Given the description of an element on the screen output the (x, y) to click on. 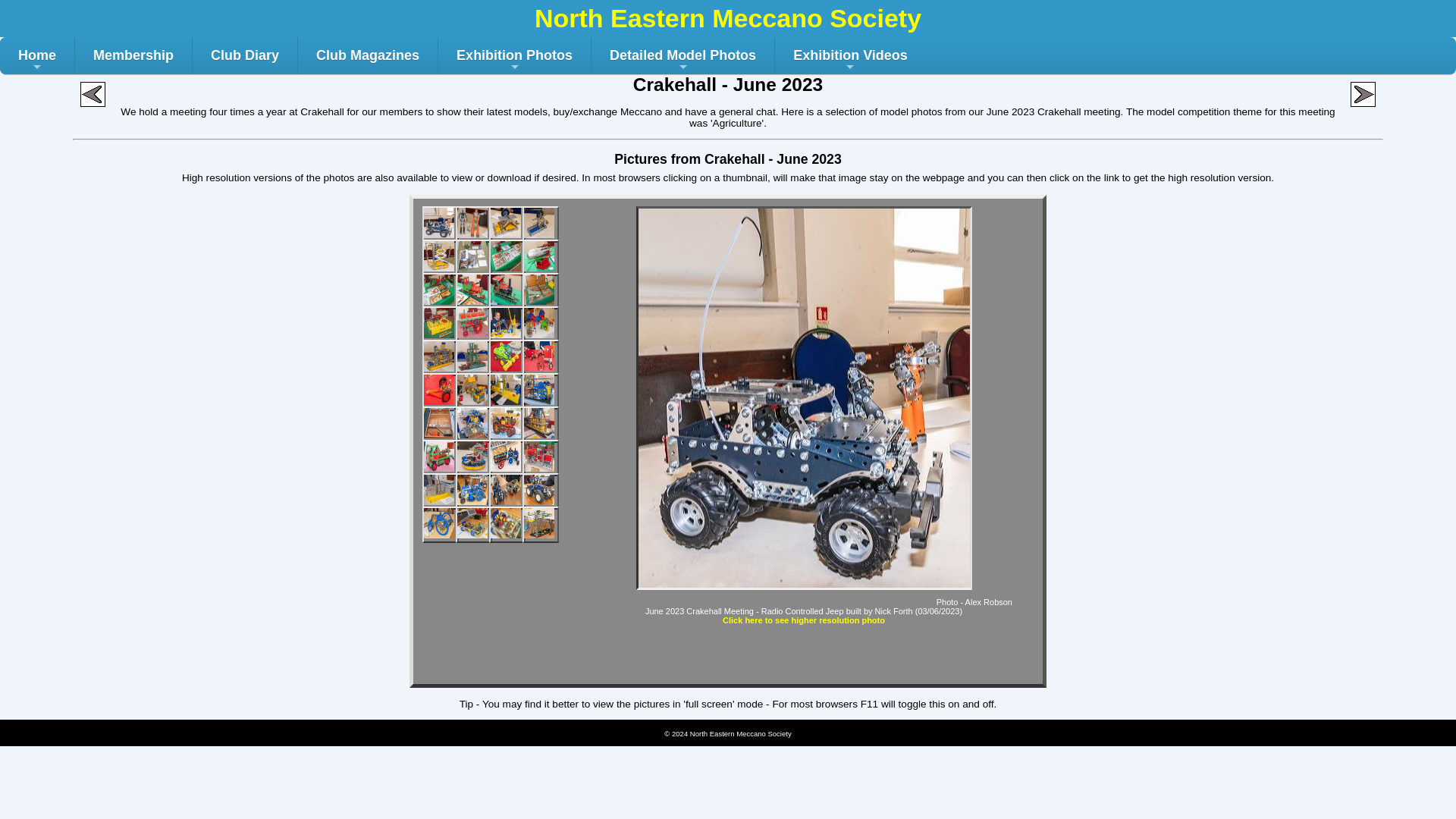
Club Diary (244, 55)
2023 May - Beamish Exhibition (92, 94)
Membership (133, 55)
Club Magazines (368, 55)
